Given the description of an element on the screen output the (x, y) to click on. 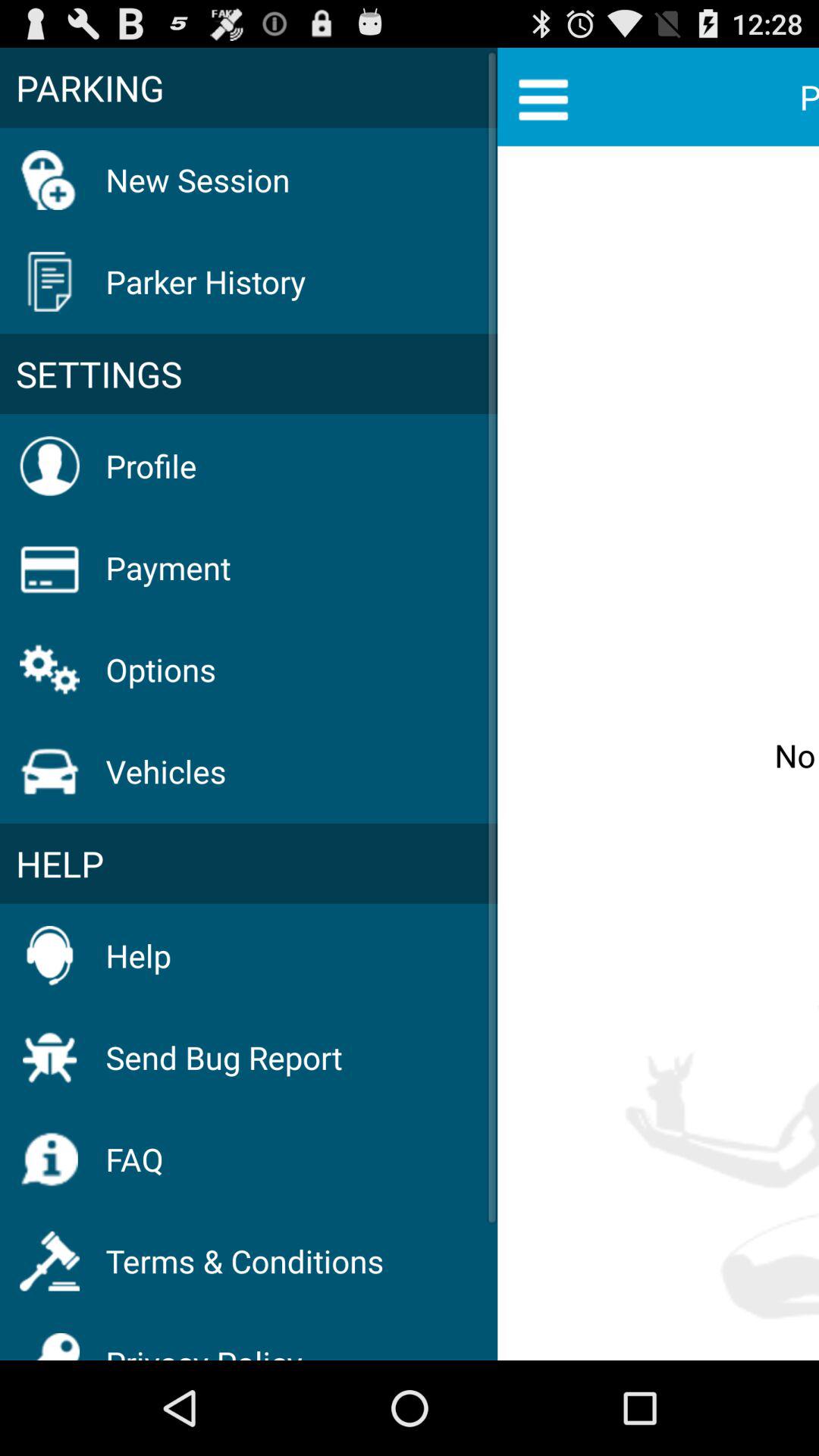
turn on icon to the left of no parking history item (248, 373)
